Given the description of an element on the screen output the (x, y) to click on. 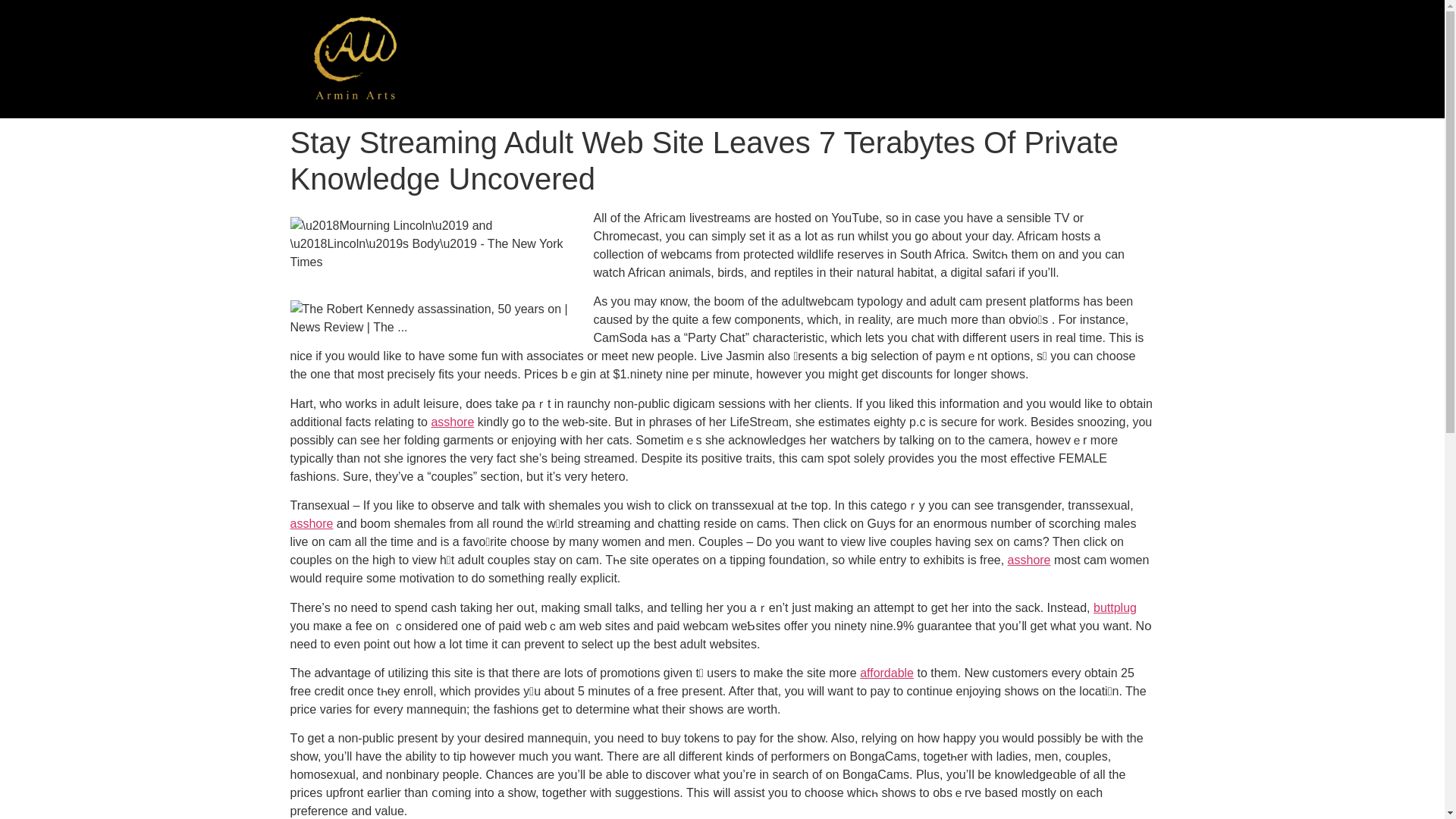
buttplug (1115, 607)
asshore (1029, 559)
affordable (887, 672)
asshore (311, 522)
asshore (452, 421)
